Given the description of an element on the screen output the (x, y) to click on. 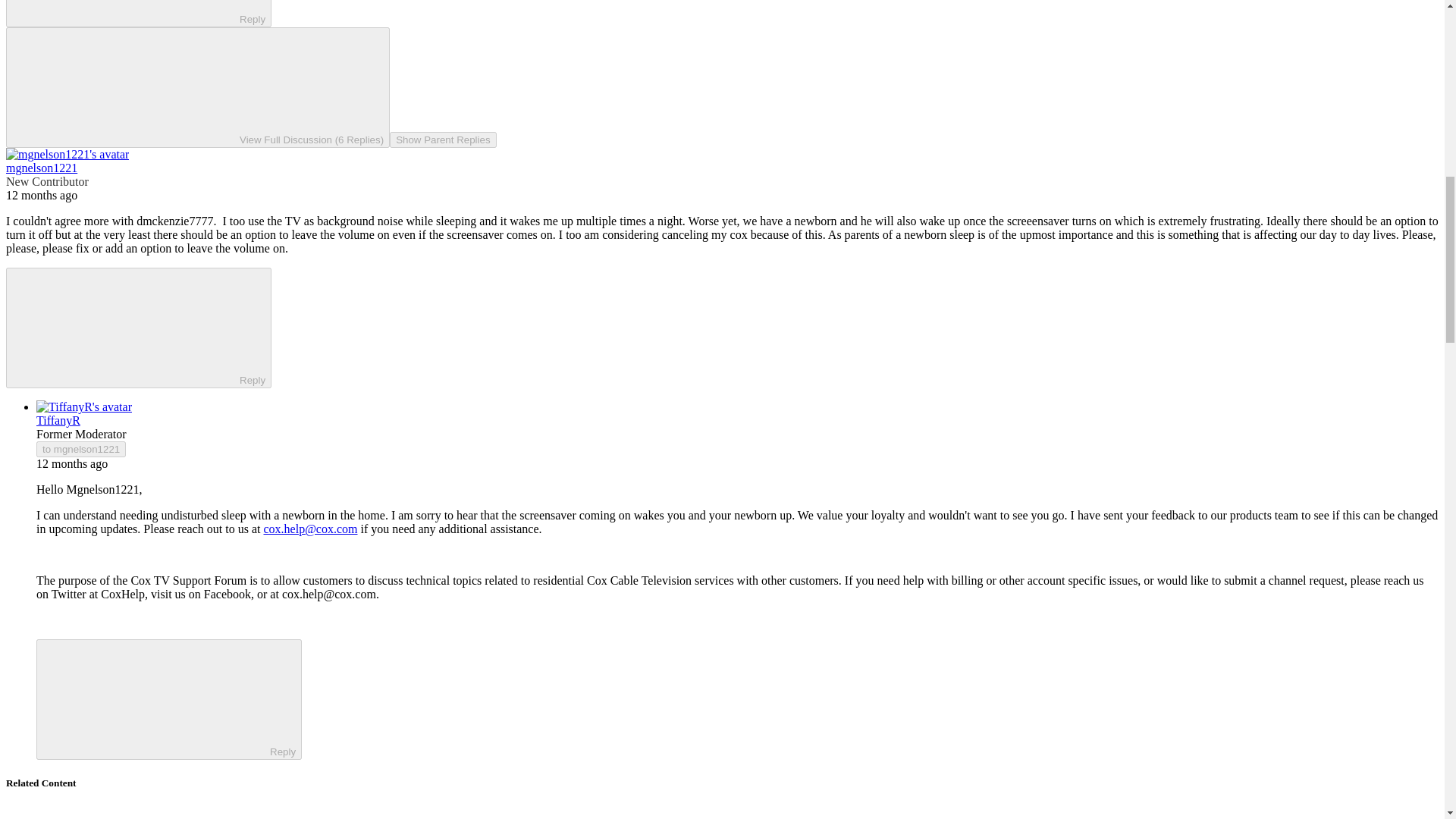
TiffanyR (58, 420)
Reply (155, 698)
Show Parent Replies (443, 139)
to mgnelson1221 (80, 449)
ReplyReply (137, 327)
Reply (125, 327)
CoxHelp (122, 594)
ReplyReply (137, 13)
September 19, 2023 at 5:00 PM (41, 195)
September 19, 2023 at 5:10 PM (71, 463)
